Given the description of an element on the screen output the (x, y) to click on. 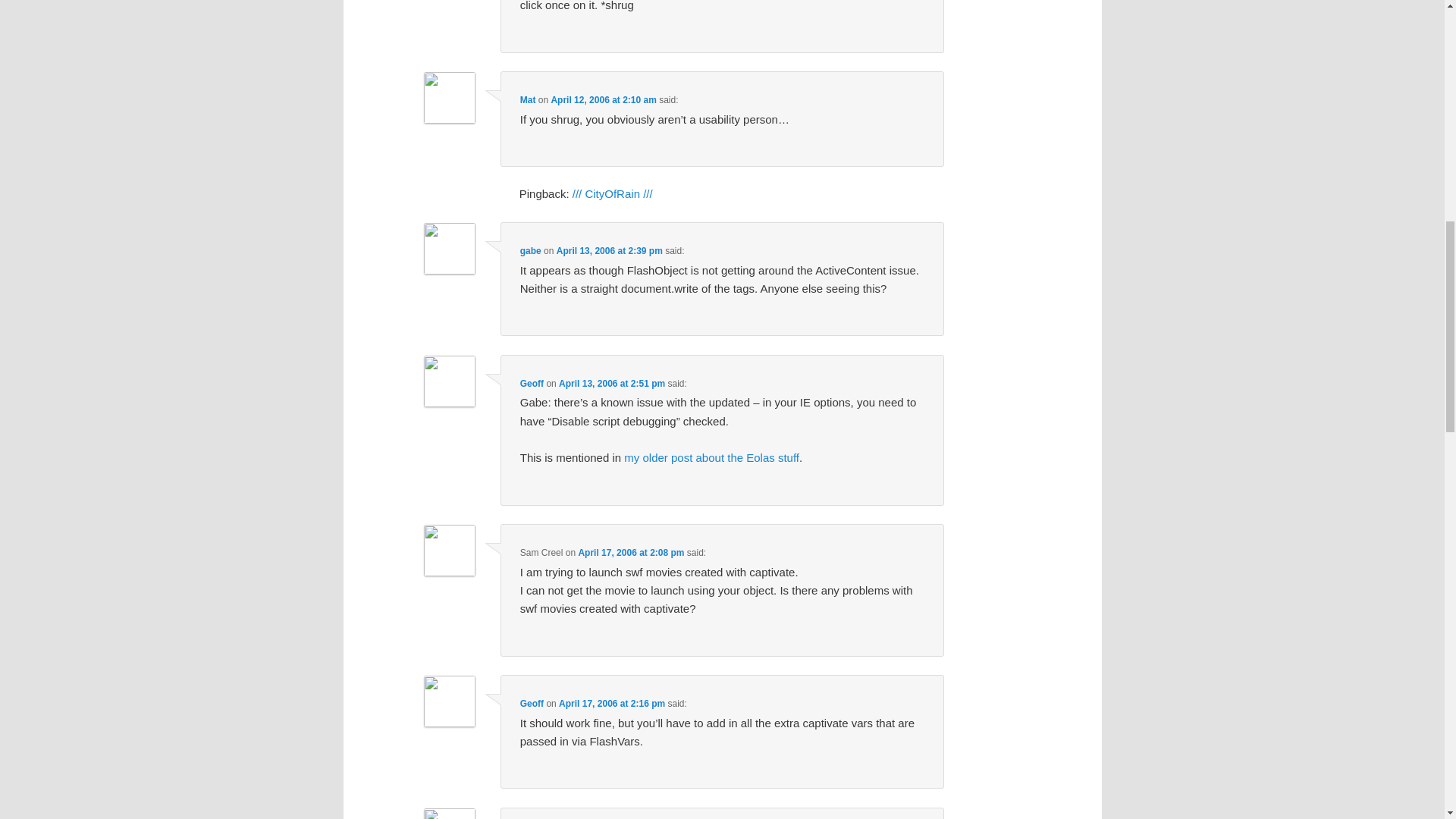
Mat (527, 100)
April 13, 2006 at 2:39 pm (609, 250)
my older post about the Eolas stuff (711, 457)
Geoff (531, 703)
April 13, 2006 at 2:51 pm (612, 383)
April 12, 2006 at 2:10 am (603, 100)
gabe (530, 250)
Geoff (531, 383)
April 17, 2006 at 2:16 pm (612, 703)
April 17, 2006 at 2:08 pm (631, 552)
